Given the description of an element on the screen output the (x, y) to click on. 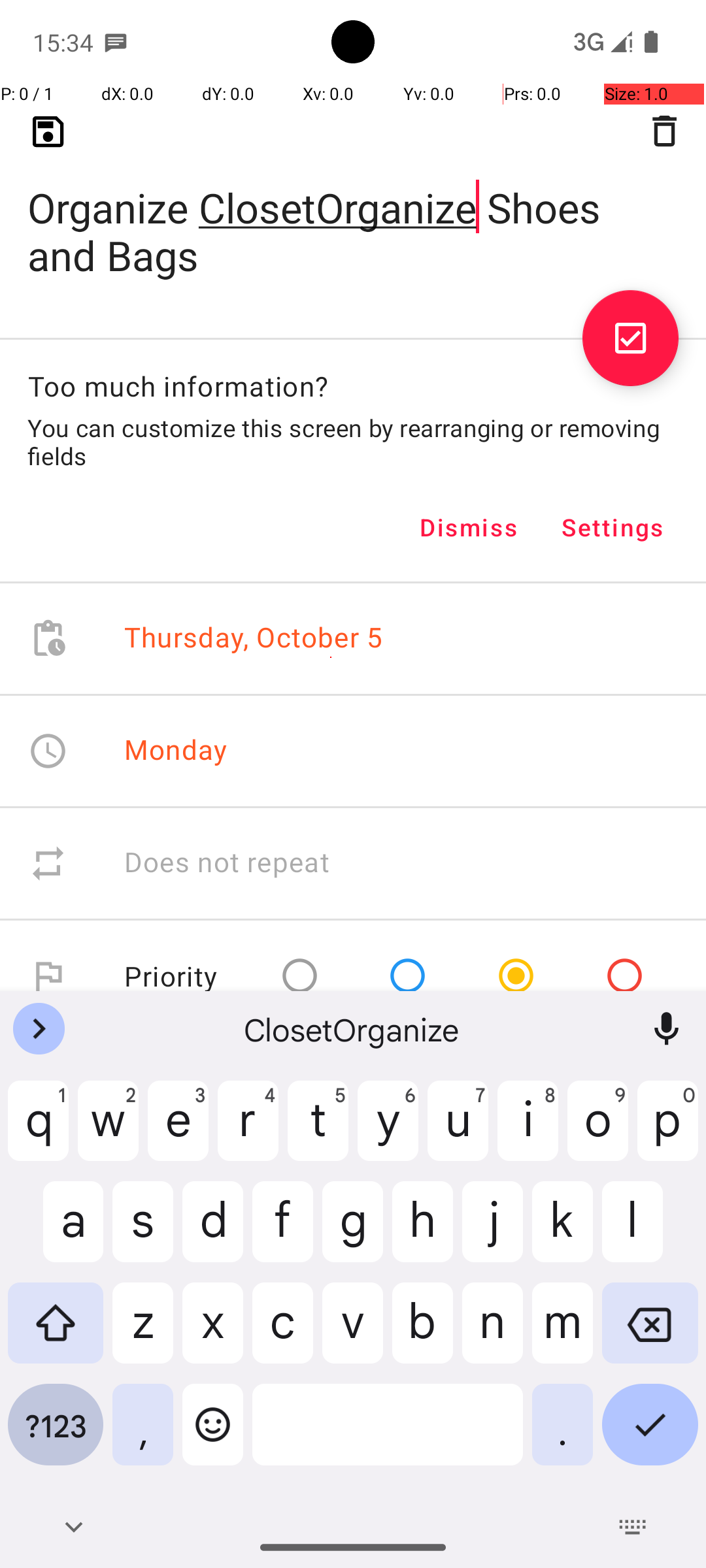
Organize ClosetOrganize Shoes and Bags Element type: android.widget.EditText (353, 210)
Delete task Element type: android.widget.Button (664, 131)
Too much information? Element type: android.widget.TextView (178, 385)
You can customize this screen by rearranging or removing fields Element type: android.widget.TextView (352, 441)
Dismiss Element type: android.widget.TextView (468, 526)
Thursday, October 5 Element type: android.widget.TextView (253, 638)
Does not repeat Element type: android.widget.TextView (226, 862)
ClosetOrganize Element type: android.widget.FrameLayout (352, 1028)
